Given the description of an element on the screen output the (x, y) to click on. 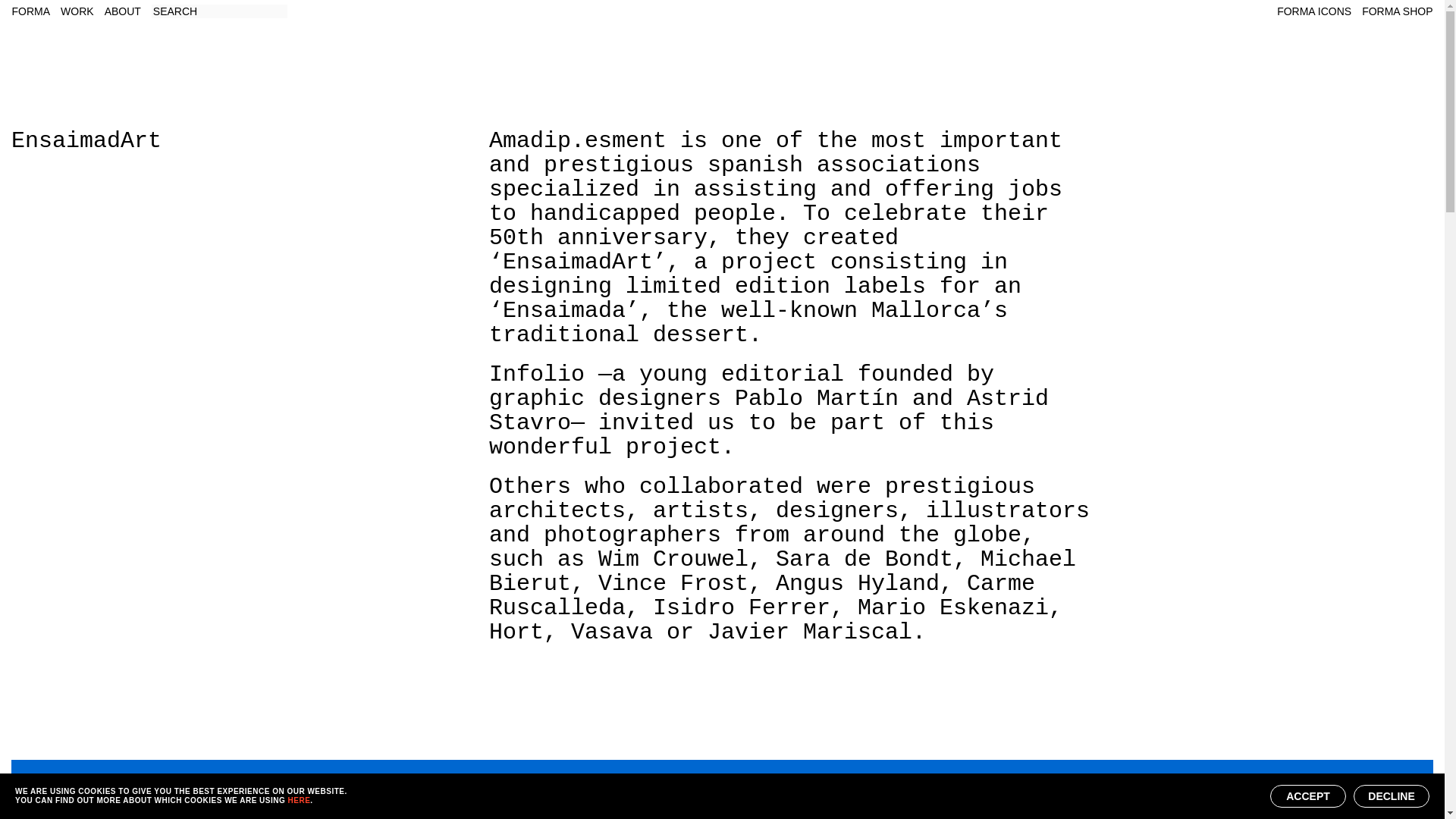
ABOUT (122, 11)
WORK (77, 11)
FORMA SHOP (1396, 11)
FORMA ICONS (1313, 11)
FORMA (30, 11)
